Given the description of an element on the screen output the (x, y) to click on. 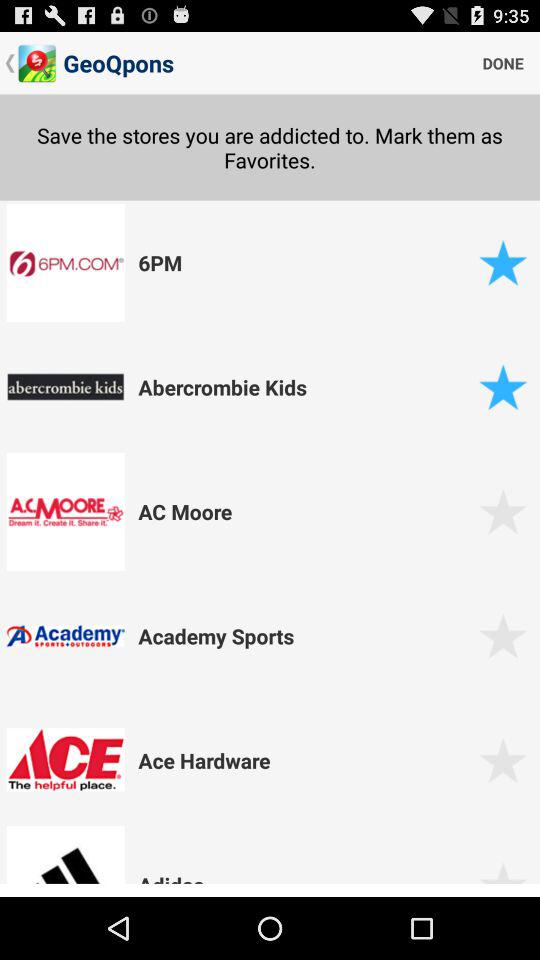
jump until abercrombie kids (305, 386)
